Given the description of an element on the screen output the (x, y) to click on. 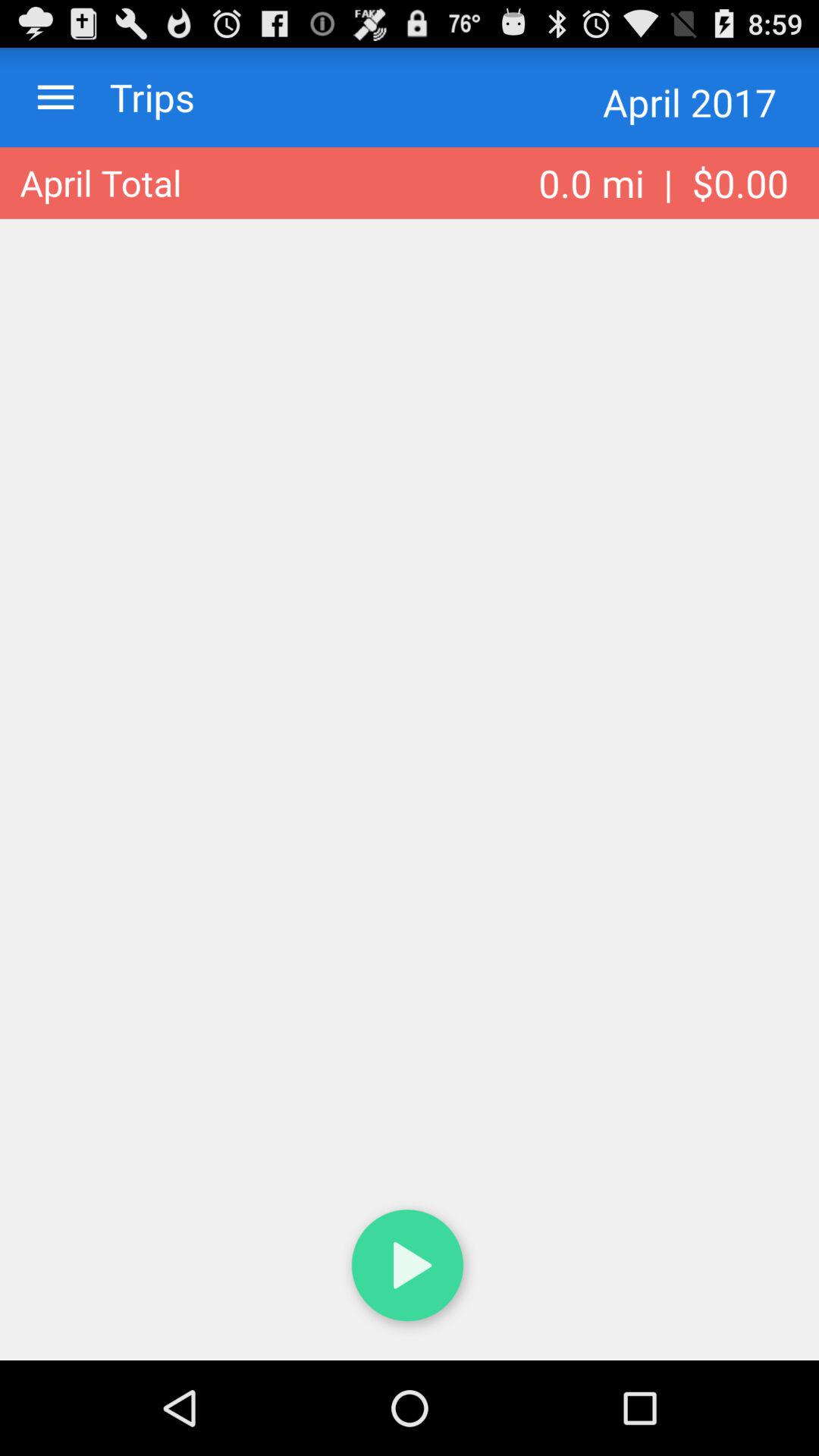
open the icon next to april 2017 item (137, 96)
